Given the description of an element on the screen output the (x, y) to click on. 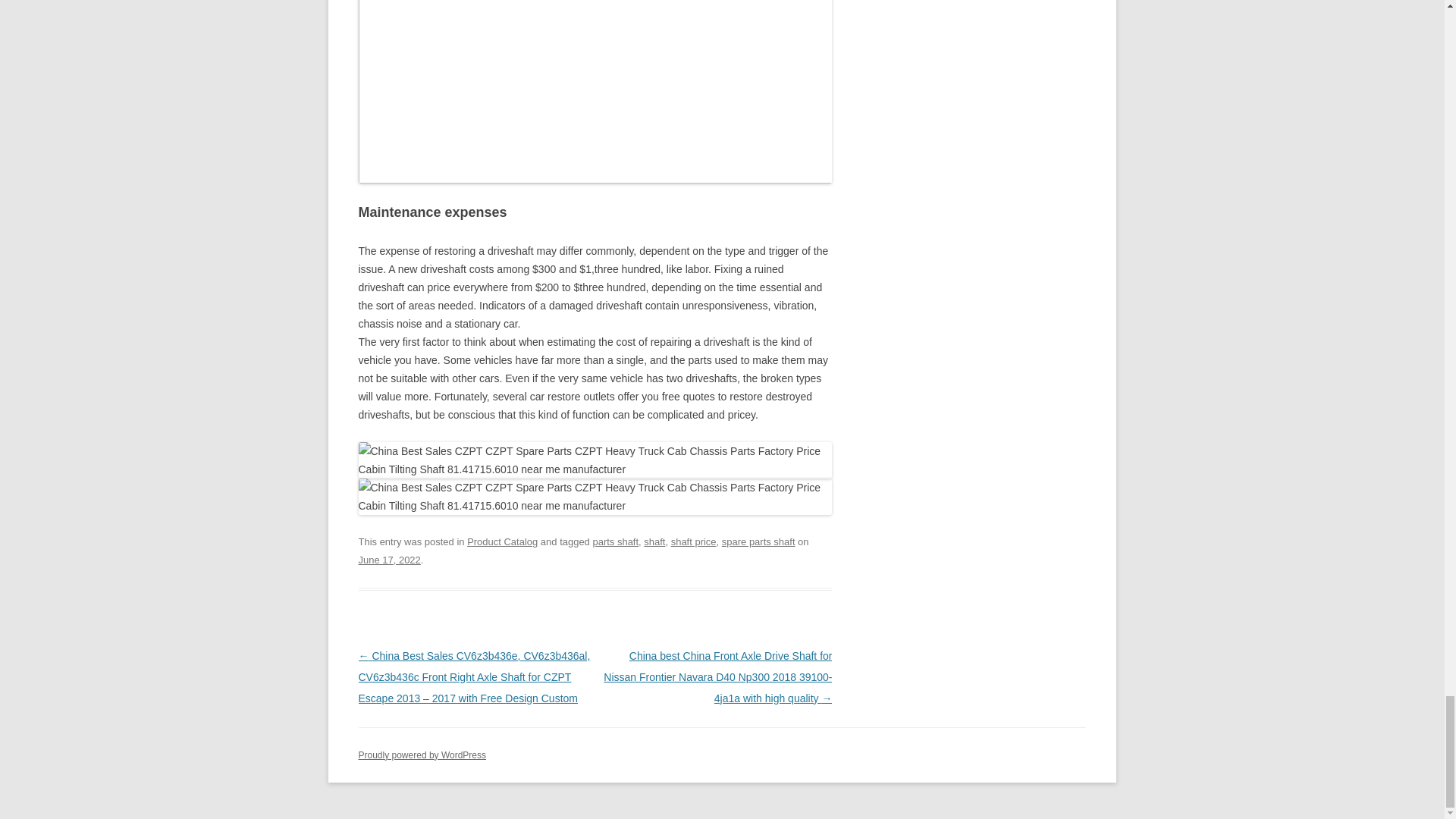
Semantic Personal Publishing Platform (422, 755)
4:00 am (389, 559)
June 17, 2022 (389, 559)
shaft price (693, 541)
shaft (654, 541)
parts shaft (615, 541)
Product Catalog (502, 541)
spare parts shaft (758, 541)
